Given the description of an element on the screen output the (x, y) to click on. 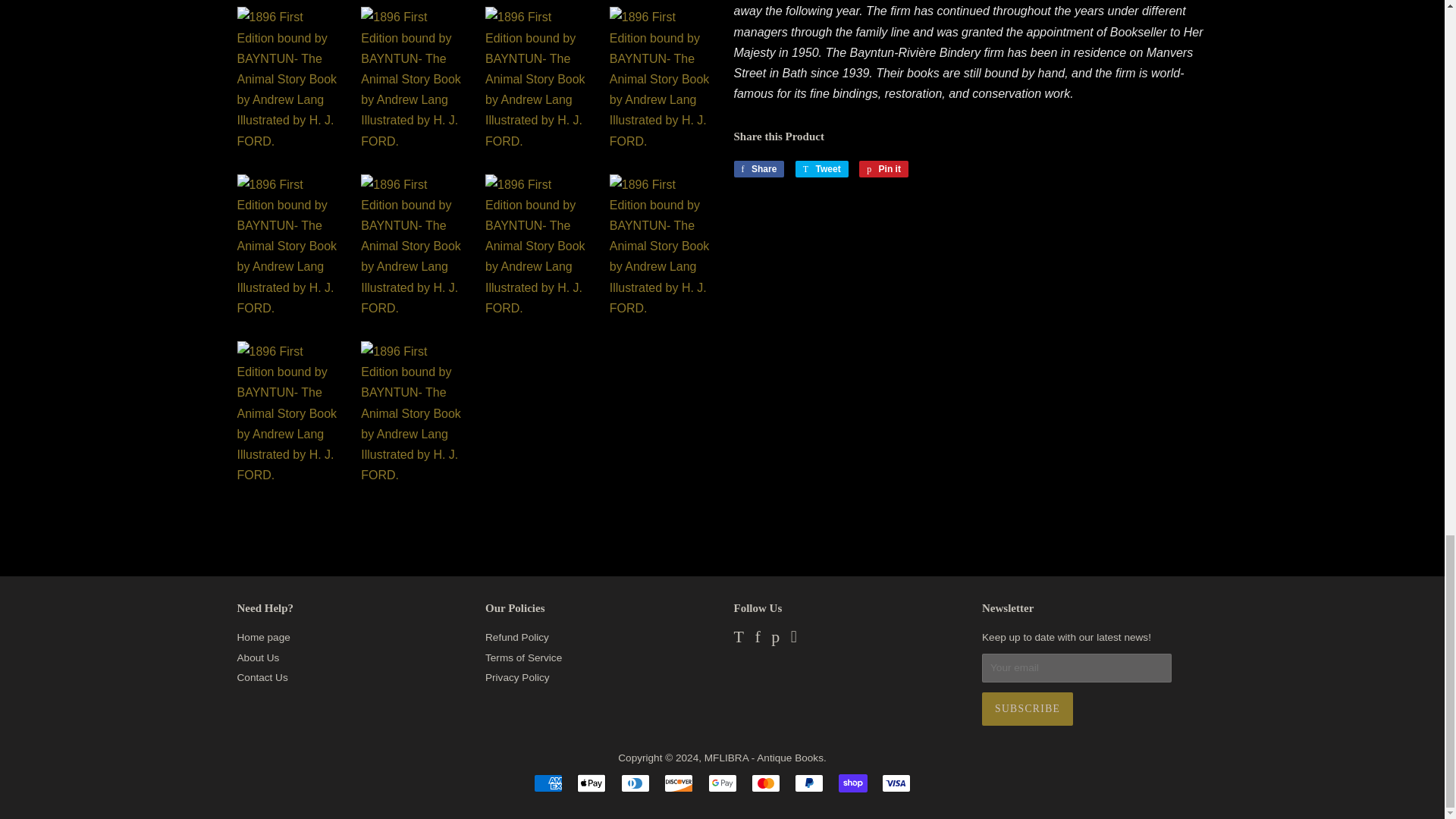
Mastercard (765, 782)
Diners Club (635, 782)
Subscribe (1027, 708)
Visa (896, 782)
American Express (548, 782)
Discover (678, 782)
Apple Pay (590, 782)
PayPal (809, 782)
Google Pay (721, 782)
Pin on Pinterest (883, 168)
